Given the description of an element on the screen output the (x, y) to click on. 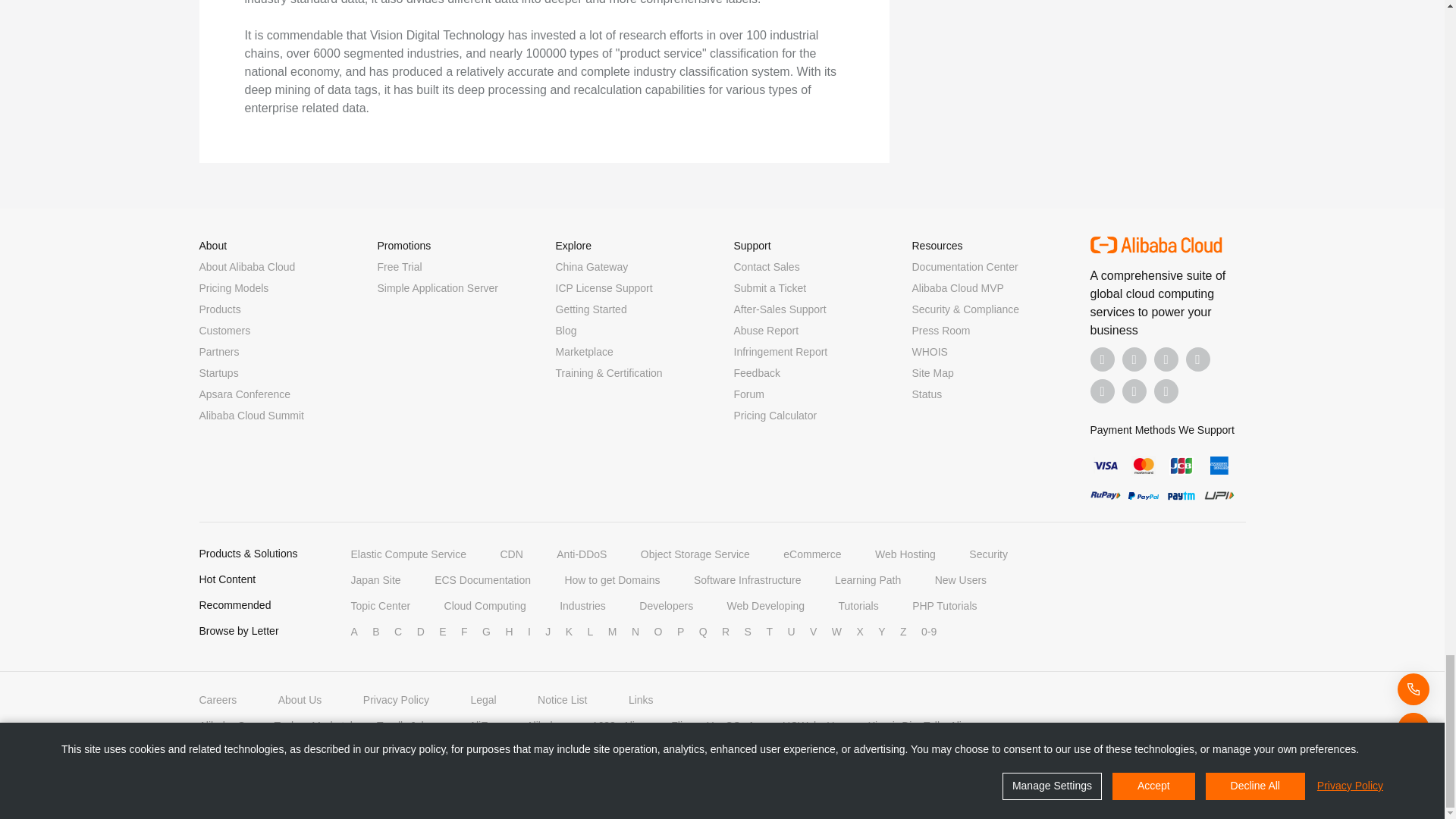
TikTok (1102, 391)
Facebook (1102, 359)
Linkedin (1134, 359)
Twitter (1165, 359)
Call Us Now (1165, 391)
YouTube (1197, 359)
